Given the description of an element on the screen output the (x, y) to click on. 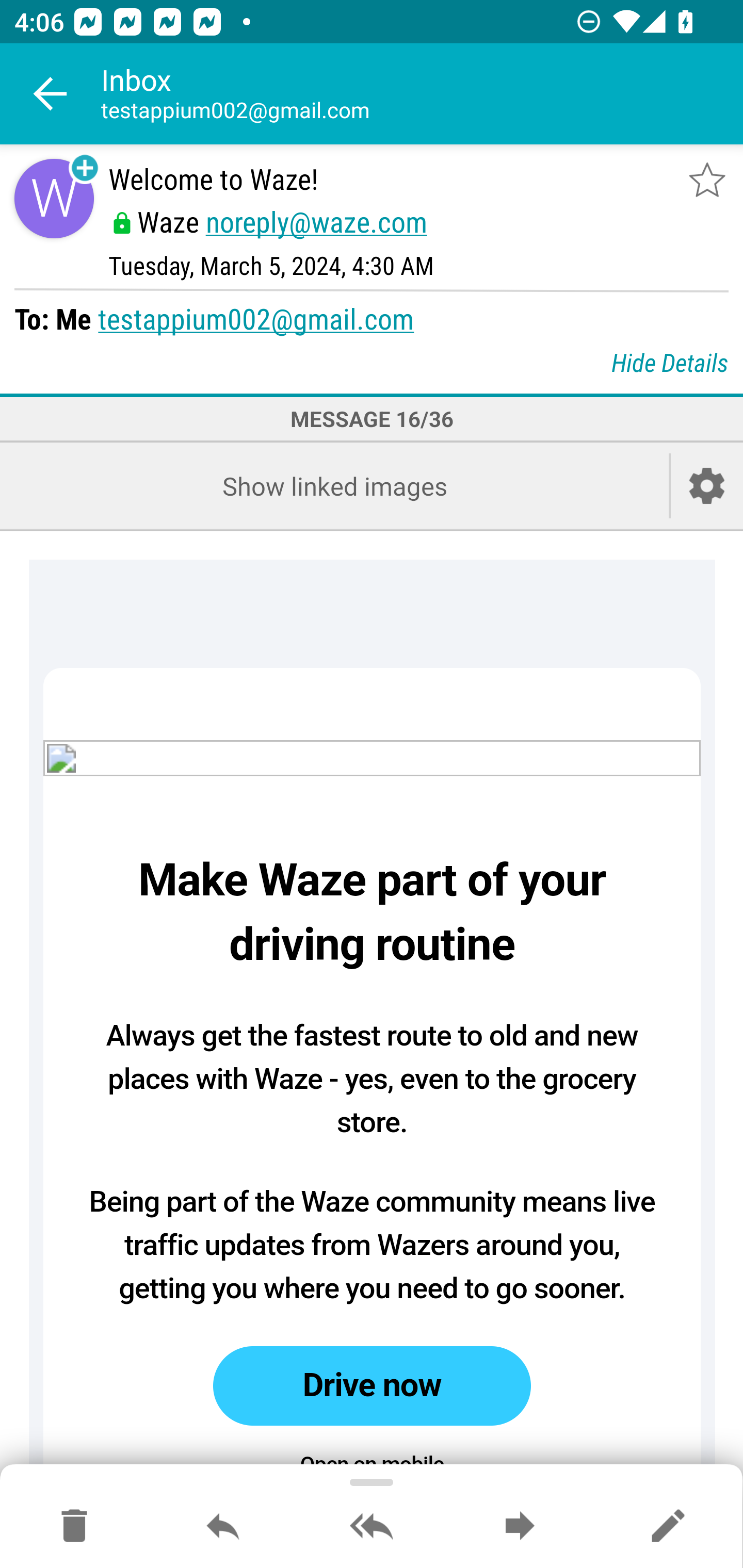
Navigate up (50, 93)
Inbox testappium002@gmail.com (422, 93)
Sender contact button (53, 198)
Show linked images (334, 485)
Account setup (706, 485)
72# (372, 758)
Drive now (372, 1385)
Move to Deleted (74, 1527)
Reply (222, 1527)
Reply all (371, 1527)
Forward (519, 1527)
Reply as new (667, 1527)
